Given the description of an element on the screen output the (x, y) to click on. 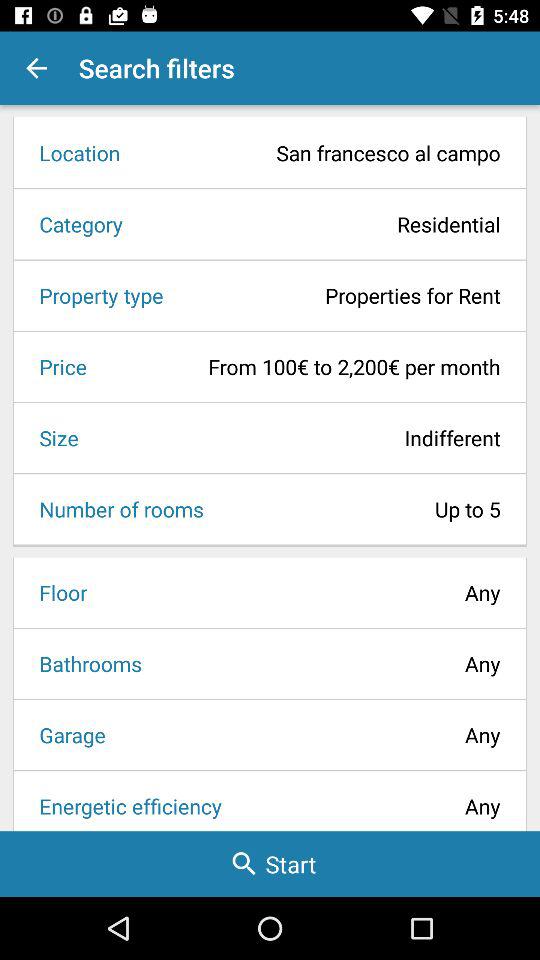
turn on the app to the left of the search filters item (36, 68)
